Given the description of an element on the screen output the (x, y) to click on. 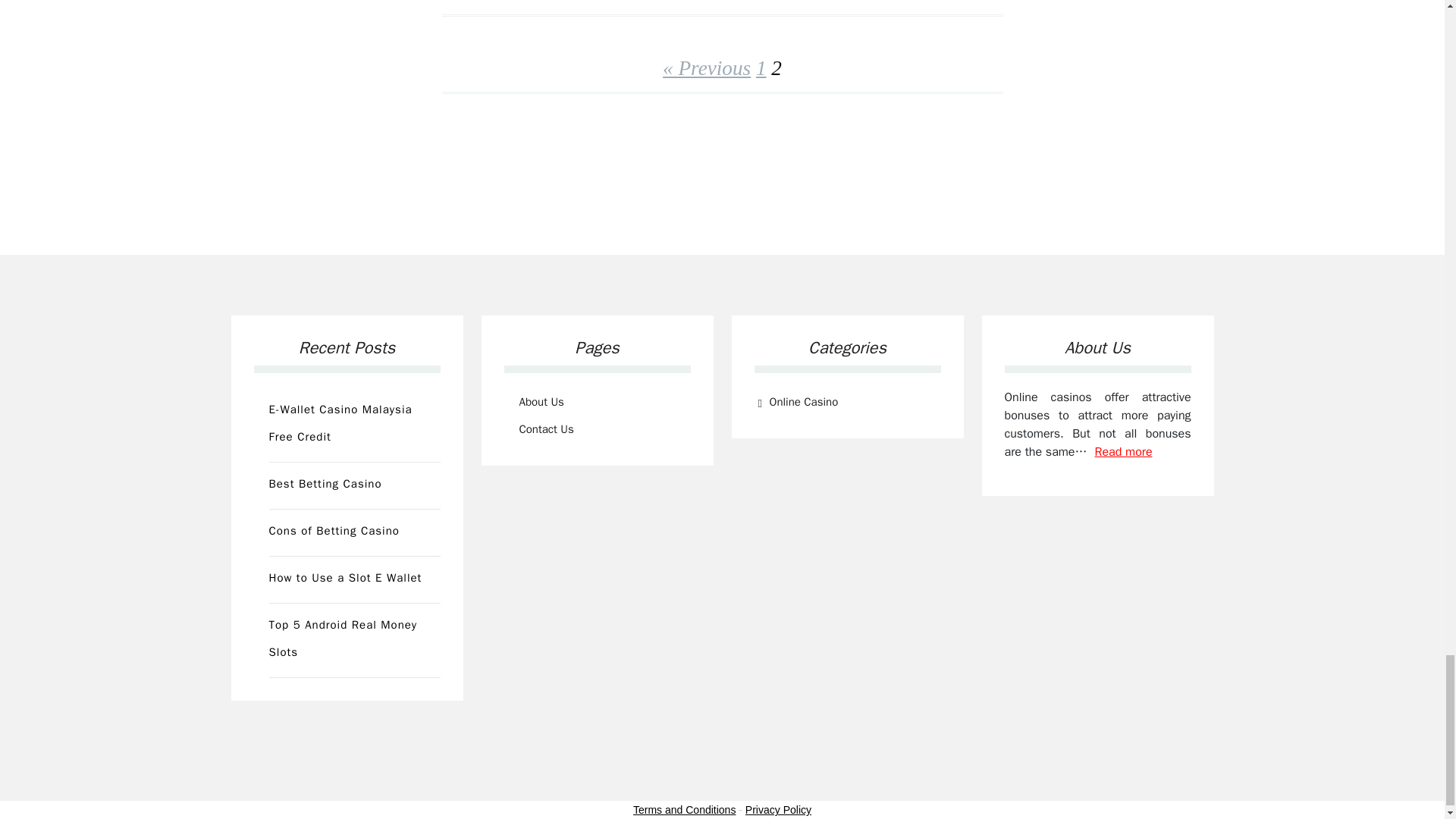
Cons of Betting Casino  (353, 531)
How to Use a Slot E Wallet (353, 579)
Best Betting Casino (353, 485)
E-Wallet Casino Malaysia Free Credit (353, 424)
